Given the description of an element on the screen output the (x, y) to click on. 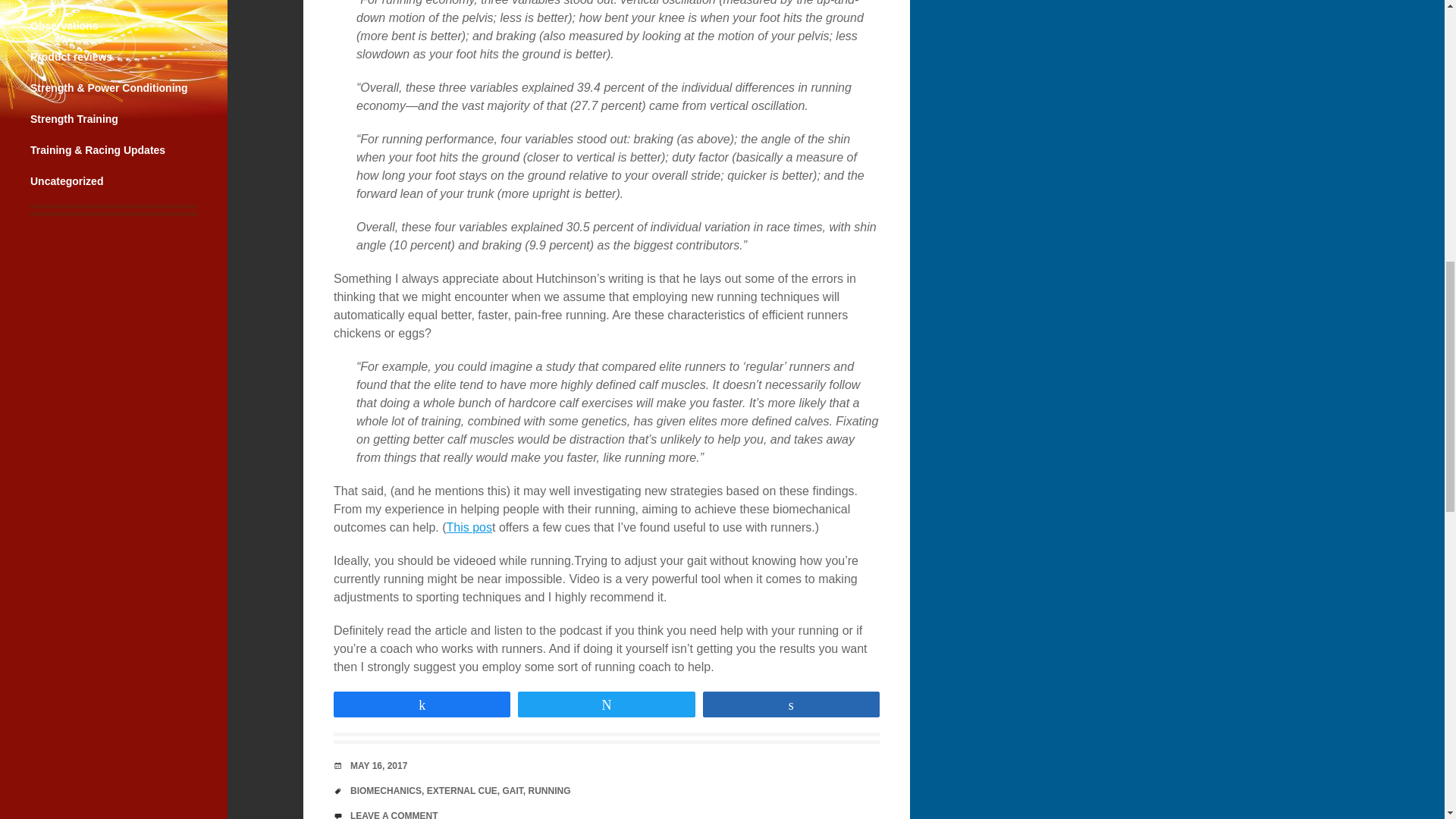
Uncategorized (66, 181)
Product reviews (71, 56)
9:38 pm (378, 765)
Observations (63, 25)
Strength Training (73, 119)
This pos (469, 526)
MAY 16, 2017 (378, 765)
Nutrition (52, 0)
